Given the description of an element on the screen output the (x, y) to click on. 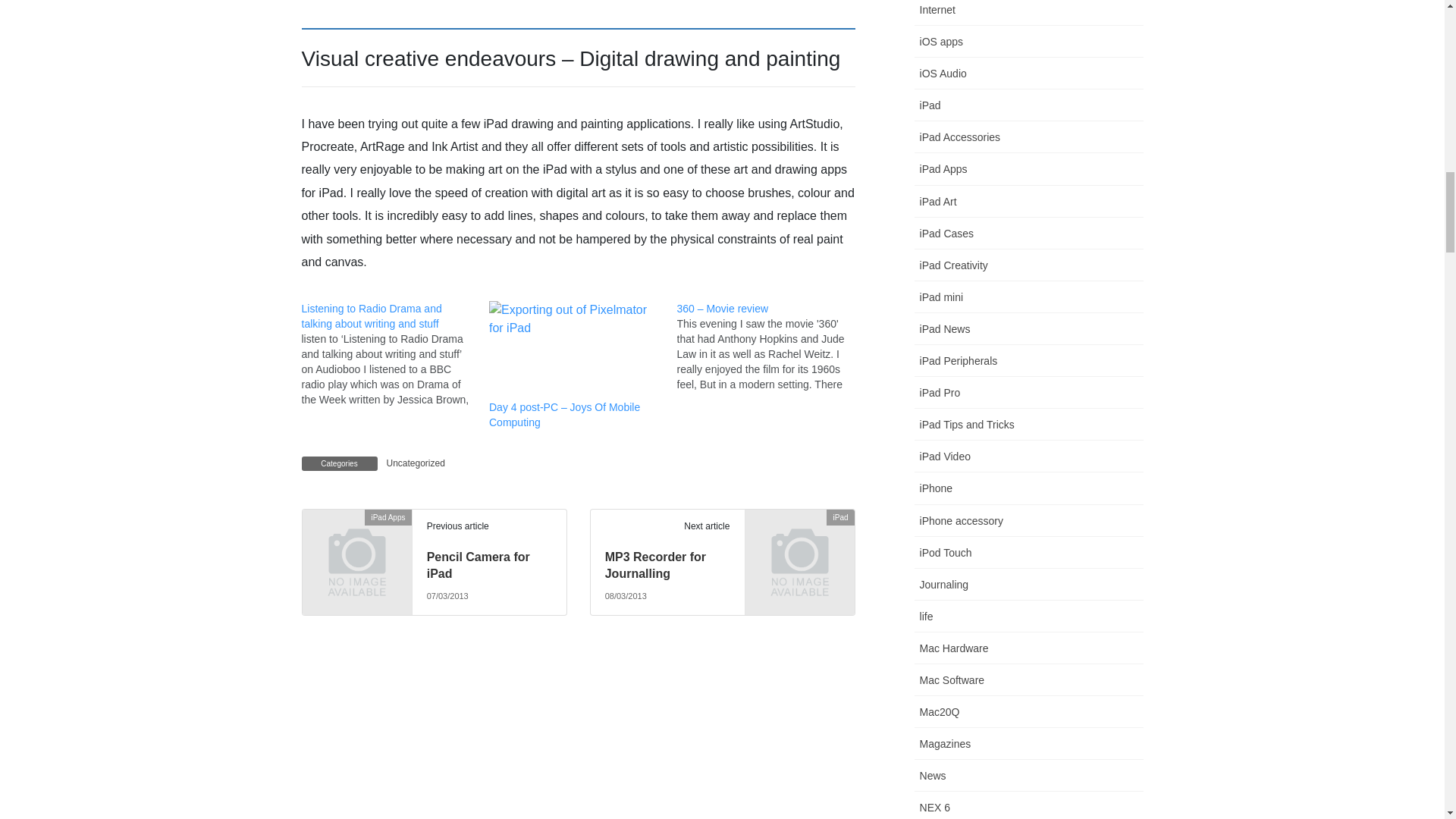
Listening to Radio Drama and talking about writing and stuff (371, 316)
Uncategorized (415, 463)
MP3 Recorder for Journalling (655, 564)
iPad (798, 541)
iPad Apps (355, 541)
Listening to Radio Drama and talking about writing and stuff (371, 316)
Listening to Radio Drama and talking about writing and stuff (395, 354)
Pencil Camera for iPad (477, 564)
